Given the description of an element on the screen output the (x, y) to click on. 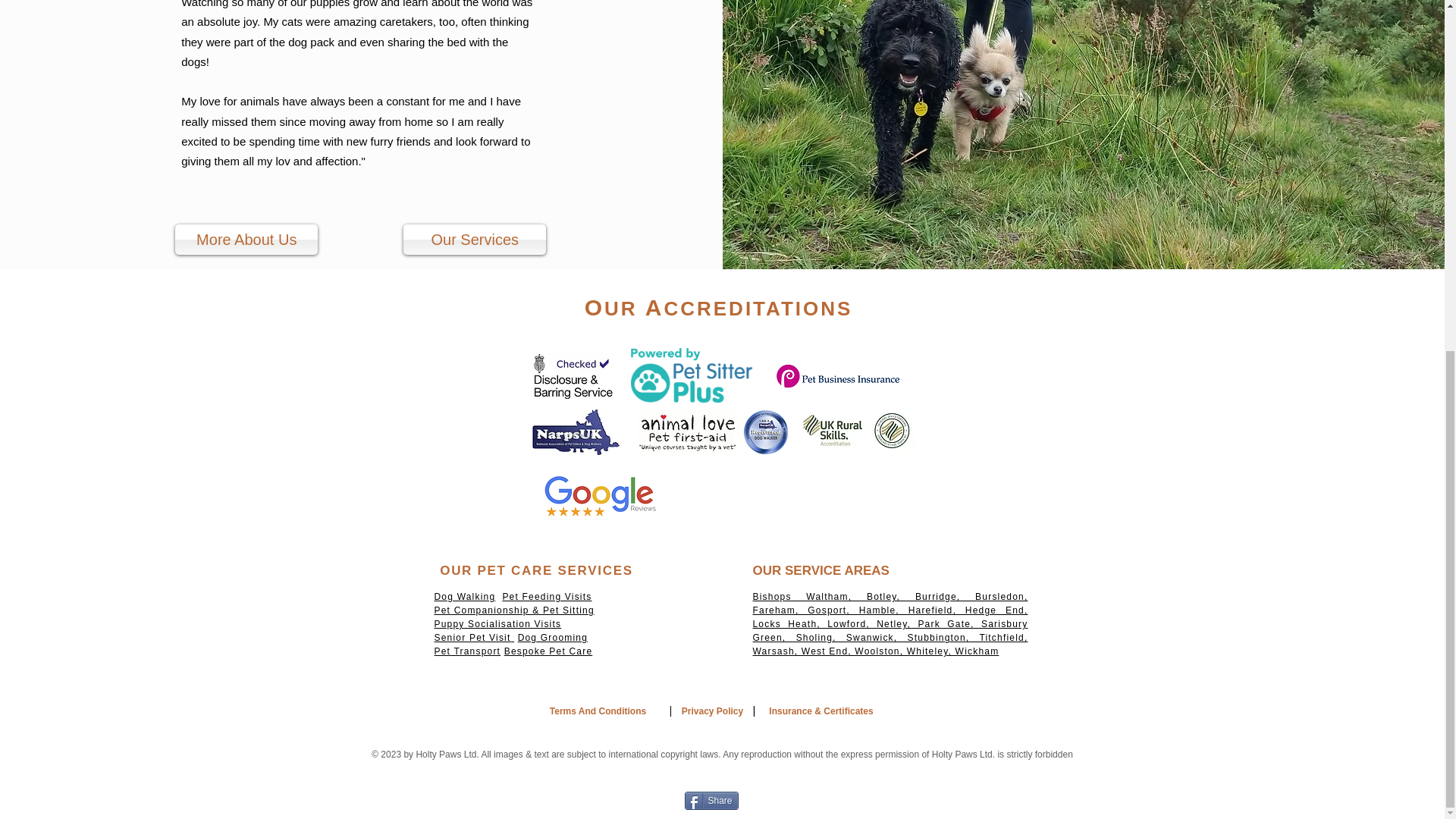
More About Us (245, 239)
Embedded Content (690, 375)
Share (711, 800)
Embedded Content (817, 496)
Our Services (474, 239)
